Given the description of an element on the screen output the (x, y) to click on. 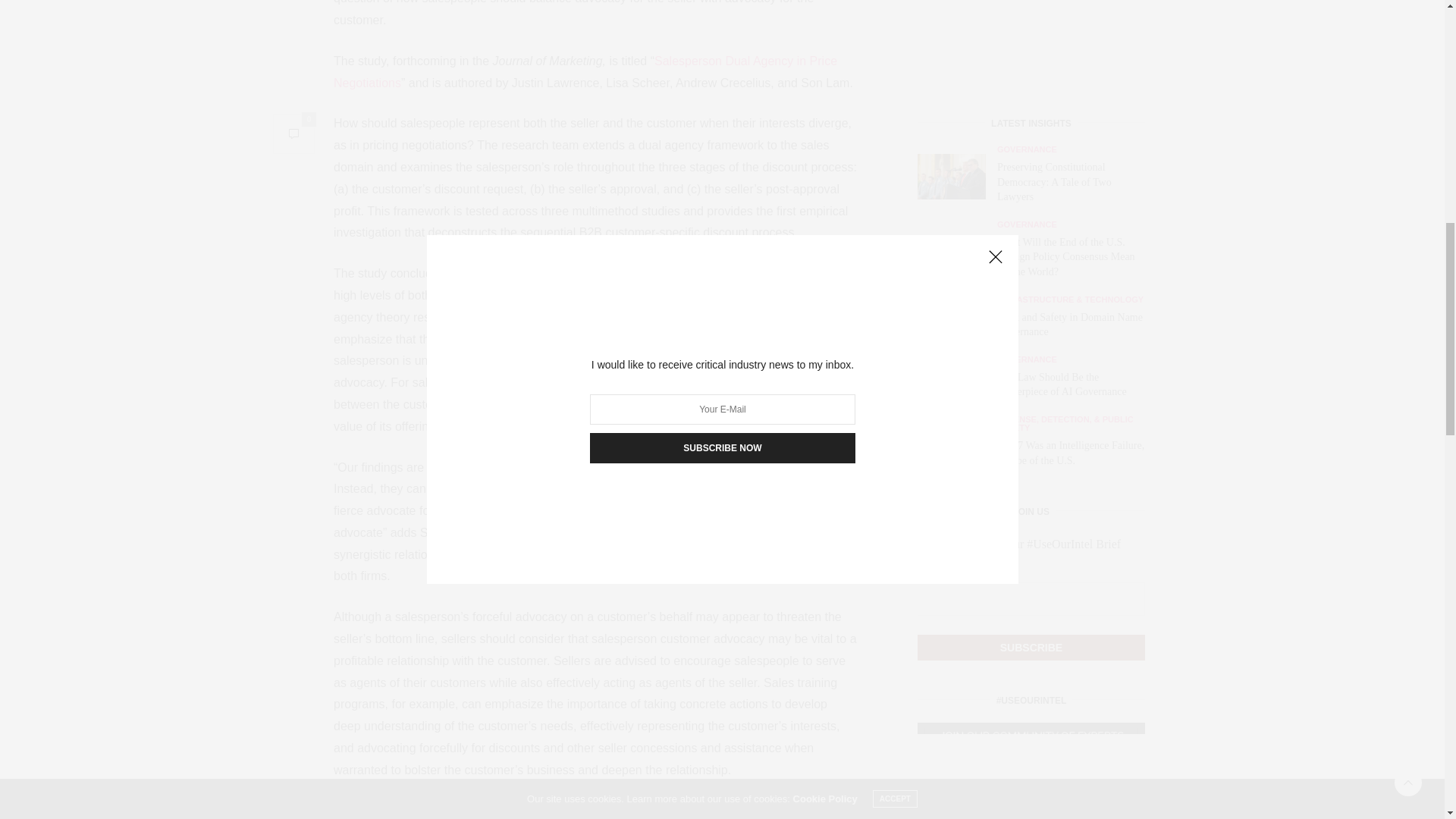
SUBMIT (1030, 497)
Salesperson Dual Agency in Price Negotiations (585, 71)
SUBSCRIBE (1030, 36)
